Given the description of an element on the screen output the (x, y) to click on. 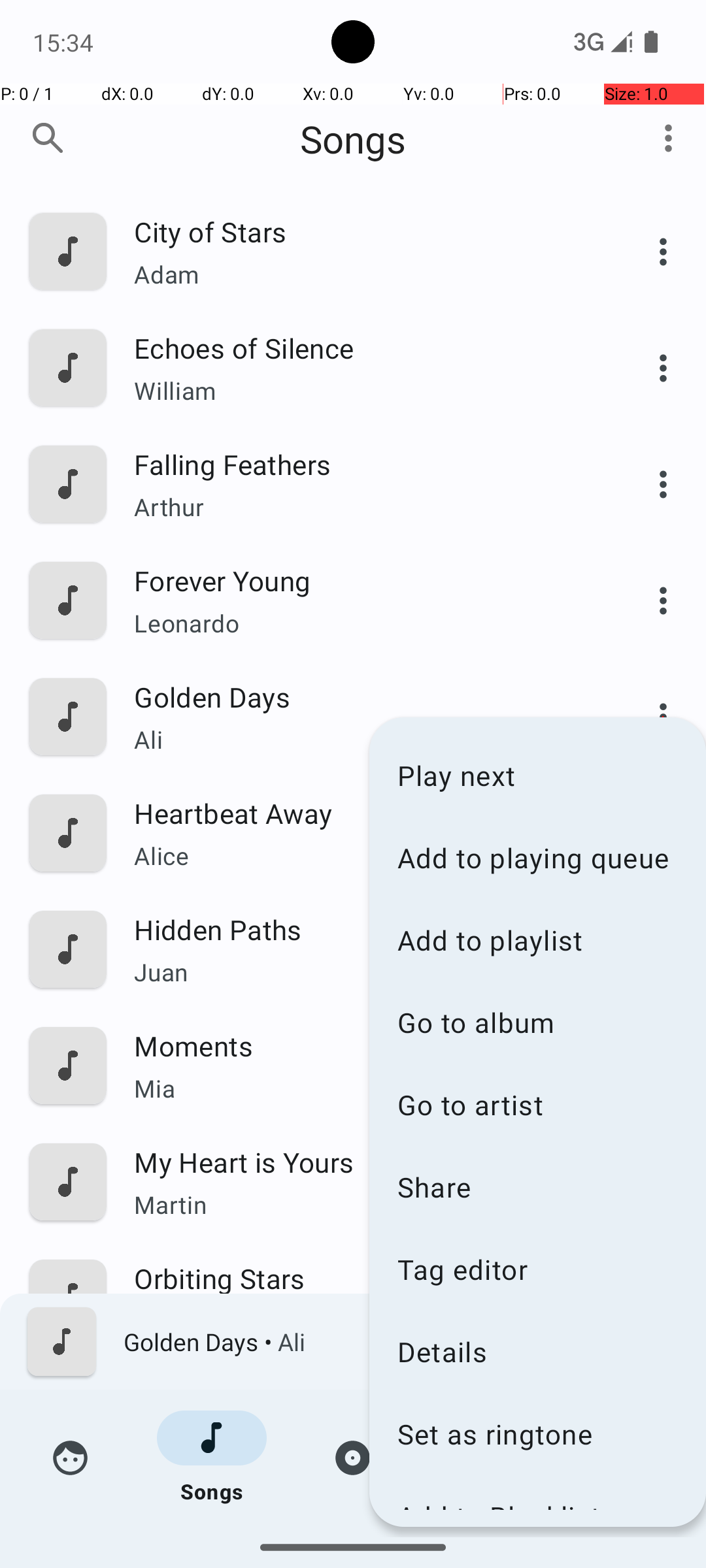
Play next Element type: android.widget.TextView (537, 774)
Add to playing queue Element type: android.widget.TextView (537, 857)
Add to playlist Element type: android.widget.TextView (537, 939)
Go to album Element type: android.widget.TextView (537, 1021)
Go to artist Element type: android.widget.TextView (537, 1104)
Tag editor Element type: android.widget.TextView (537, 1268)
Details Element type: android.widget.TextView (537, 1351)
Set as ringtone Element type: android.widget.TextView (537, 1433)
Add to Blacklist Element type: android.widget.TextView (537, 1503)
